Given the description of an element on the screen output the (x, y) to click on. 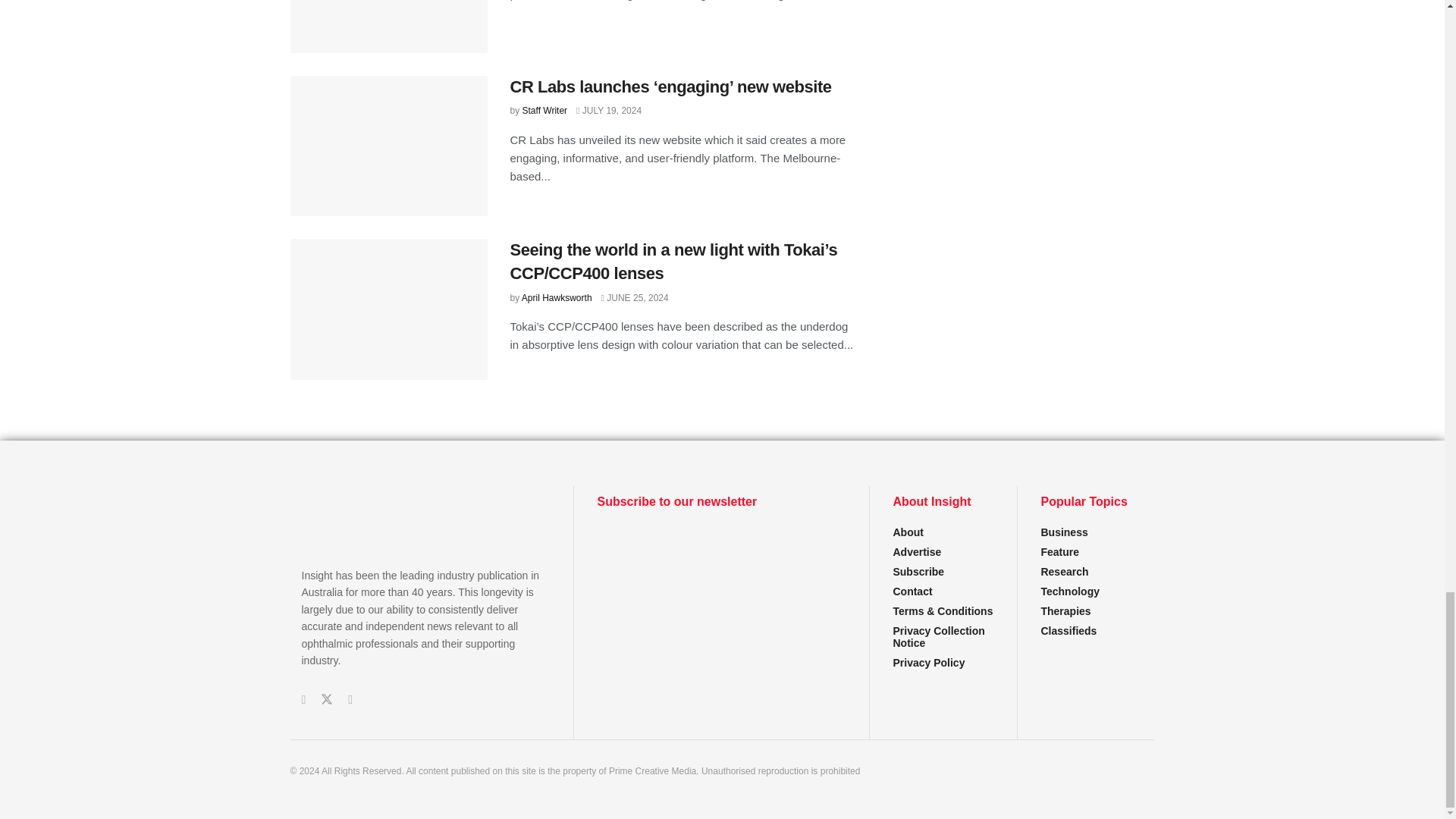
Newsletter signup for Footer (720, 582)
